Given the description of an element on the screen output the (x, y) to click on. 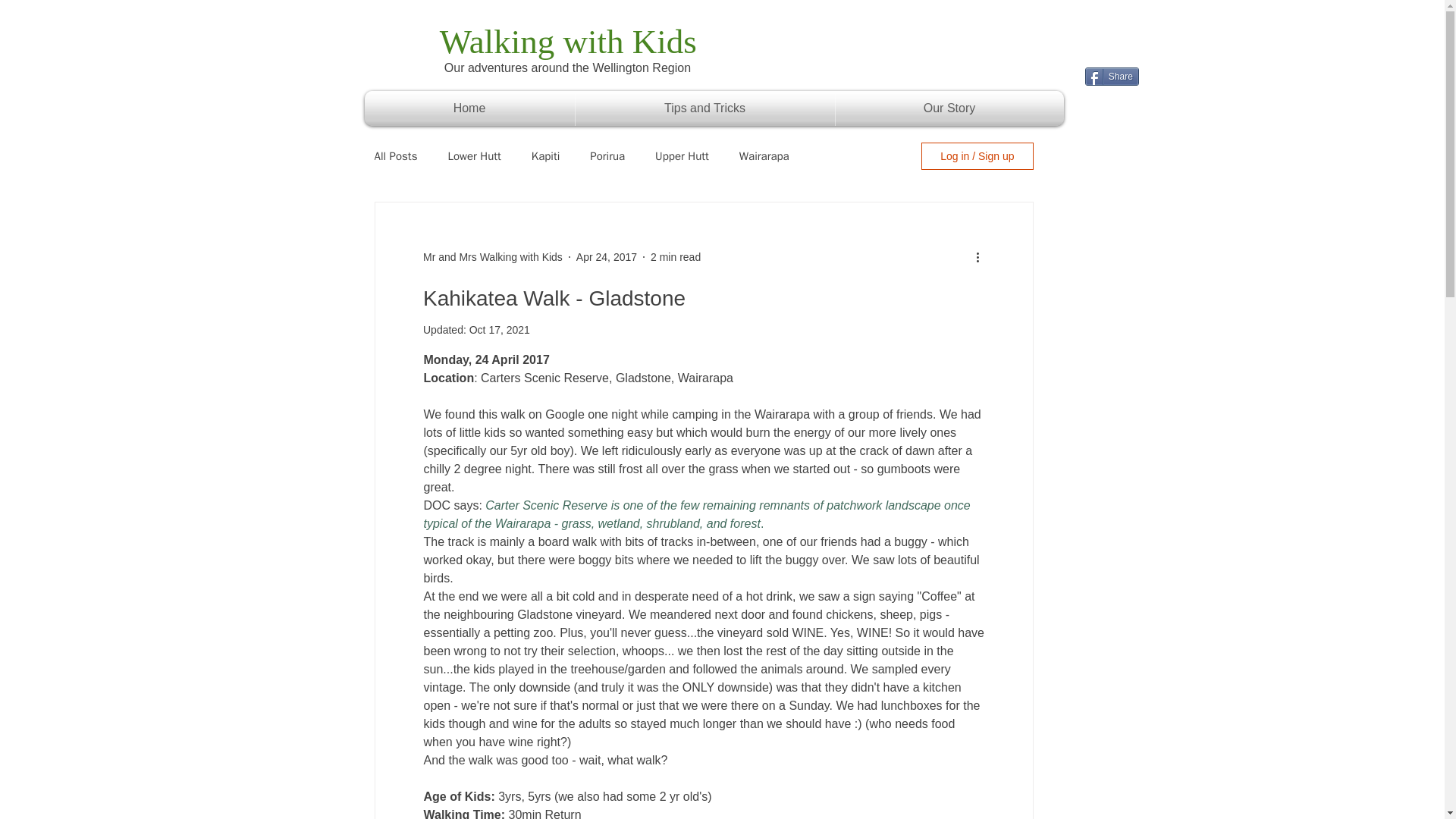
Share (1111, 76)
All Posts (395, 155)
Upper Hutt (682, 155)
Tips and Tricks (704, 108)
Lower Hutt (473, 155)
Our Story (949, 108)
Apr 24, 2017 (606, 256)
Porirua (606, 155)
Wairarapa (764, 155)
Share (1111, 76)
